Given the description of an element on the screen output the (x, y) to click on. 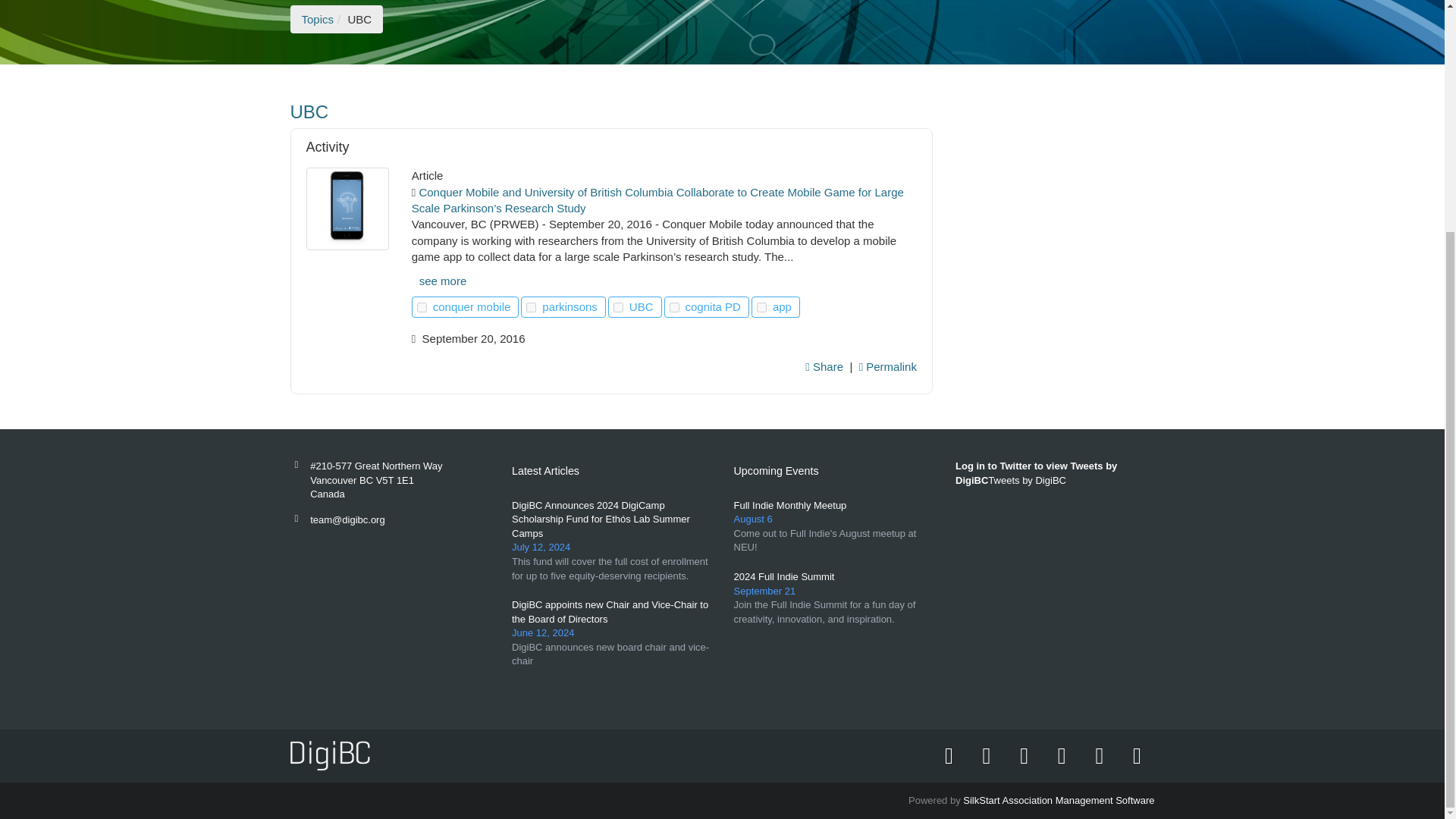
Follow (617, 307)
Go to tag page: cognita PD (713, 306)
Follow (674, 307)
on (530, 307)
on (674, 307)
Follow (762, 307)
on (421, 307)
Go to tag page: parkinsons (571, 306)
UBC (611, 112)
Go to tag page: UBC (642, 306)
Go to tag page: app (783, 306)
Follow (421, 307)
on (617, 307)
Go to tag page: conquer mobile (473, 306)
on (762, 307)
